Given the description of an element on the screen output the (x, y) to click on. 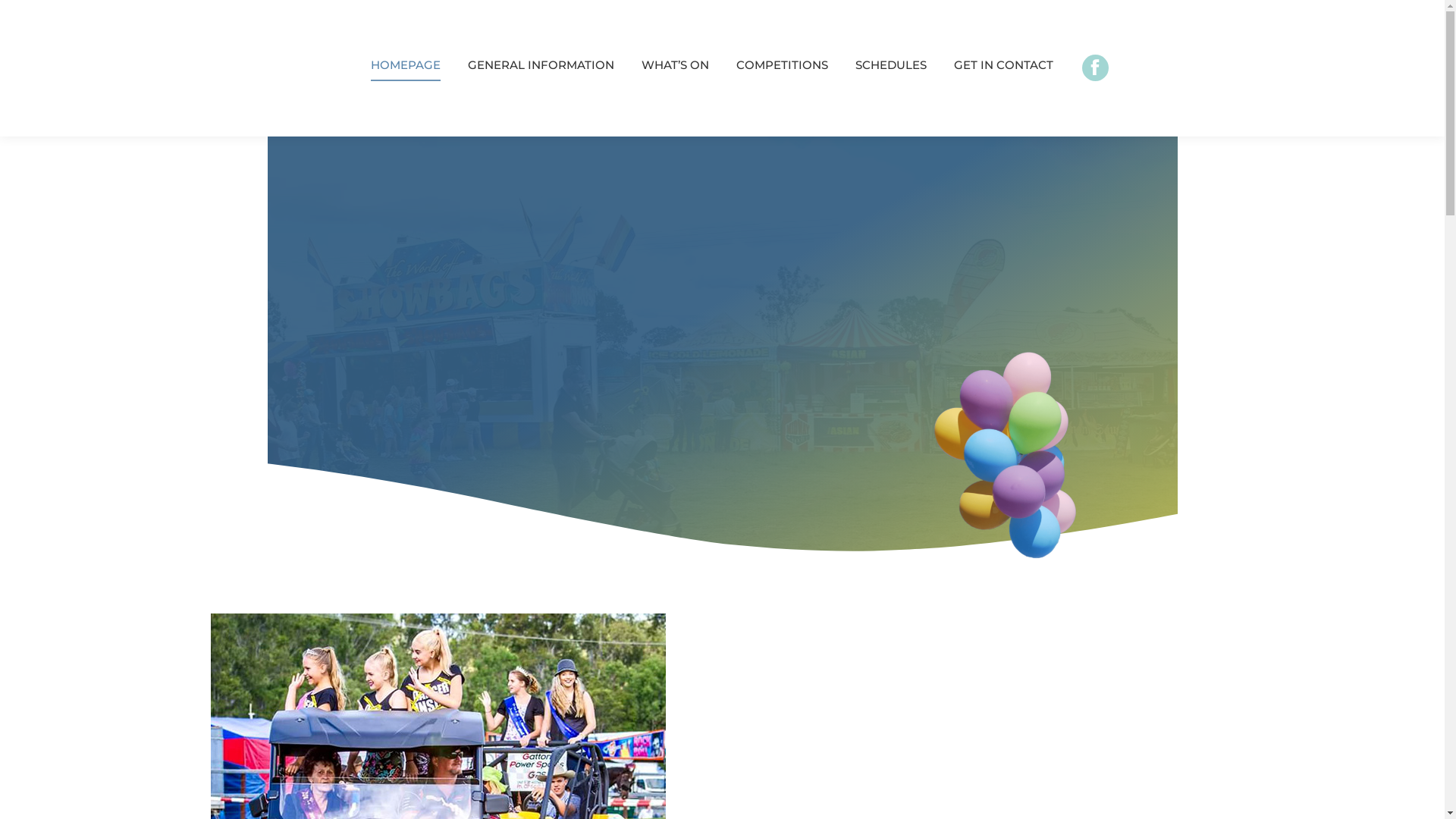
Facebook page opens in new window Element type: hover (1094, 67)
HOMEPAGE Element type: text (404, 67)
GET IN CONTACT Element type: text (1003, 67)
SCHEDULES Element type: text (890, 67)
GENERAL INFORMATION Element type: text (540, 67)
COMPETITIONS Element type: text (781, 67)
